Given the description of an element on the screen output the (x, y) to click on. 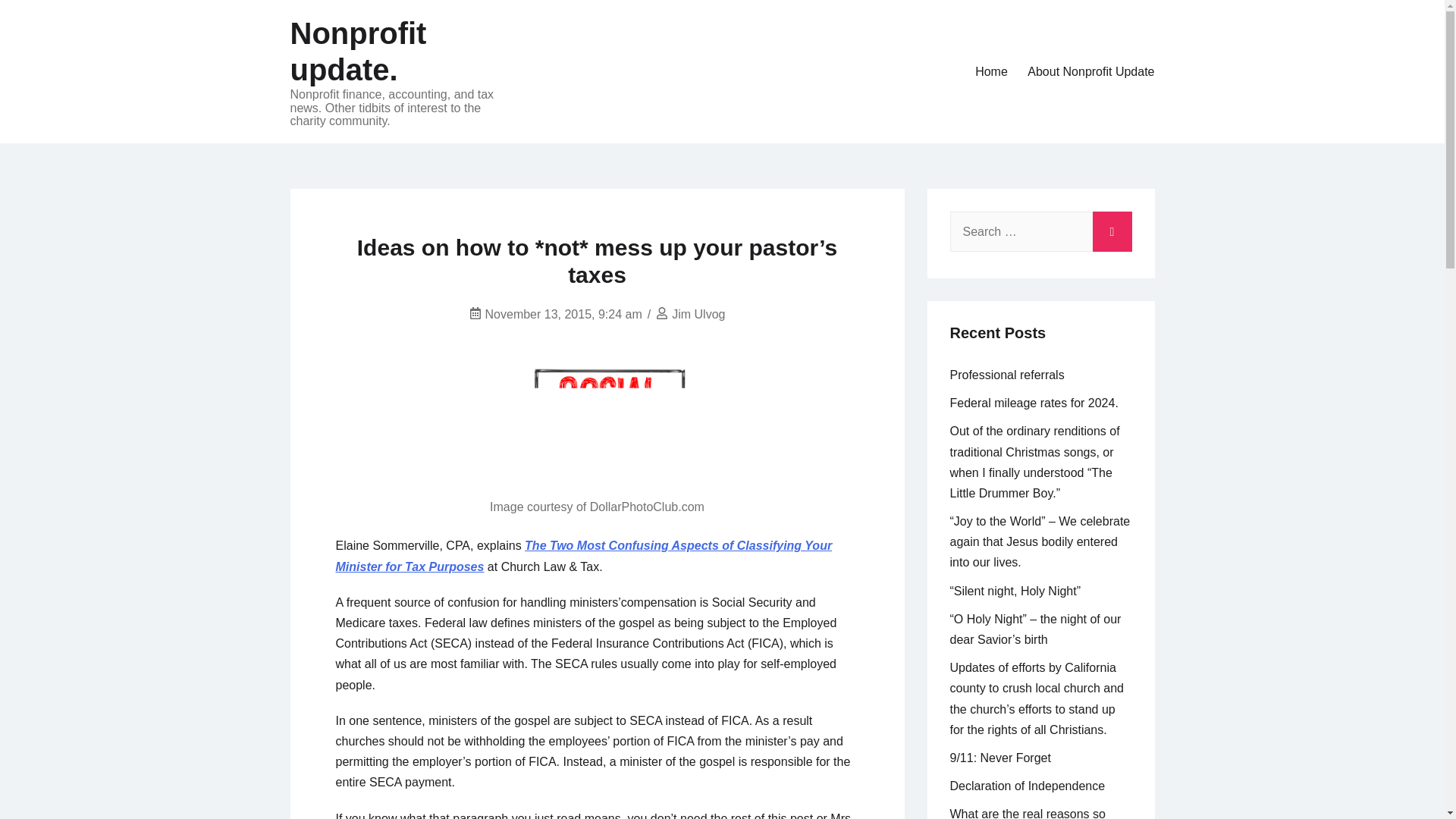
Jim Ulvog (698, 314)
About Nonprofit Update (1090, 71)
November 13, 2015, 9:24 am (563, 314)
Nonprofit update. (357, 51)
Professional referrals (1006, 374)
Search (1111, 227)
Declaration of Independence (1027, 785)
Federal mileage rates for 2024. (1033, 402)
Search (1111, 227)
